Given the description of an element on the screen output the (x, y) to click on. 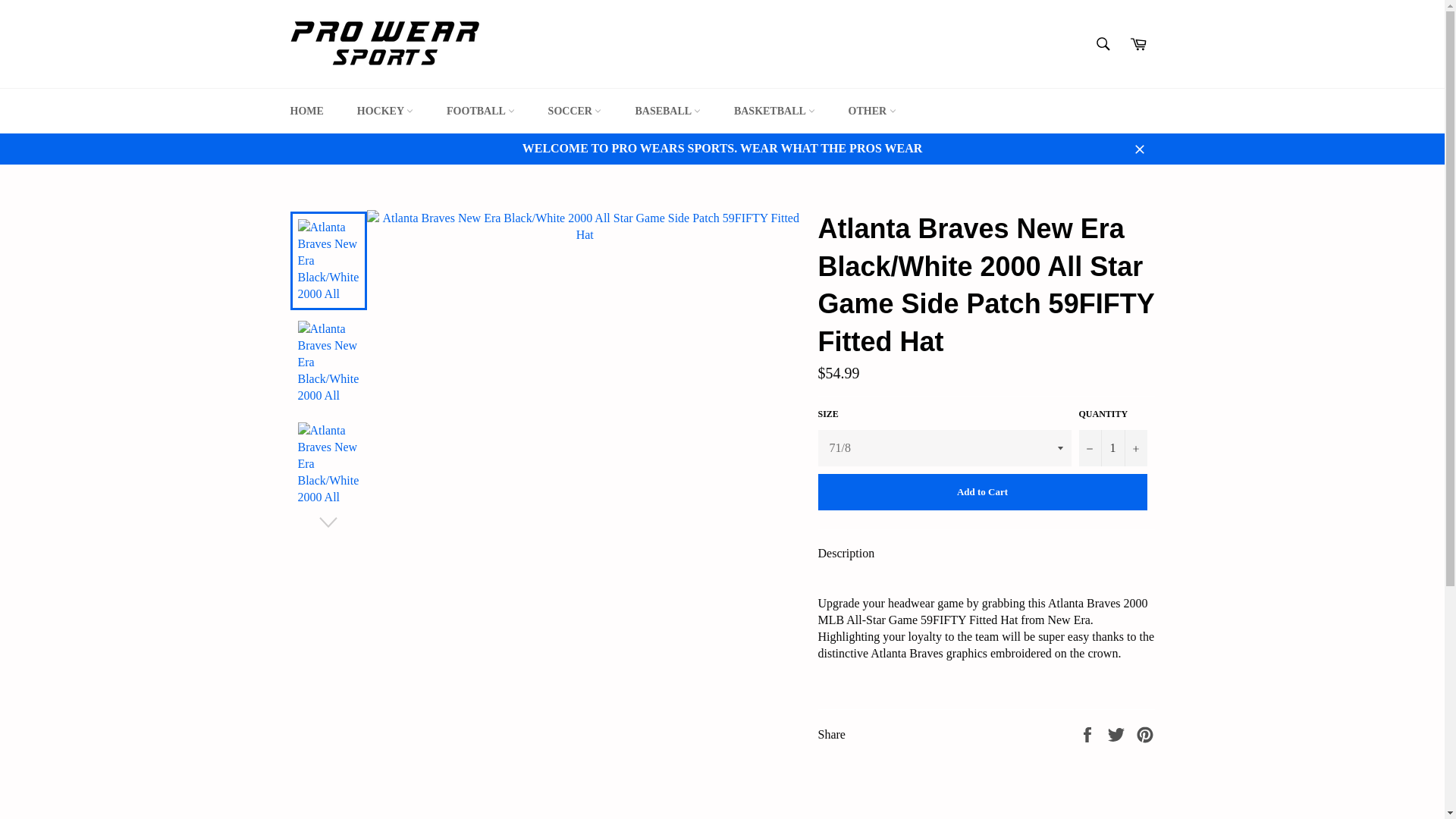
Share on Facebook (1088, 732)
Pin on Pinterest (1144, 732)
Tweet on Twitter (1117, 732)
1 (1112, 447)
